Given the description of an element on the screen output the (x, y) to click on. 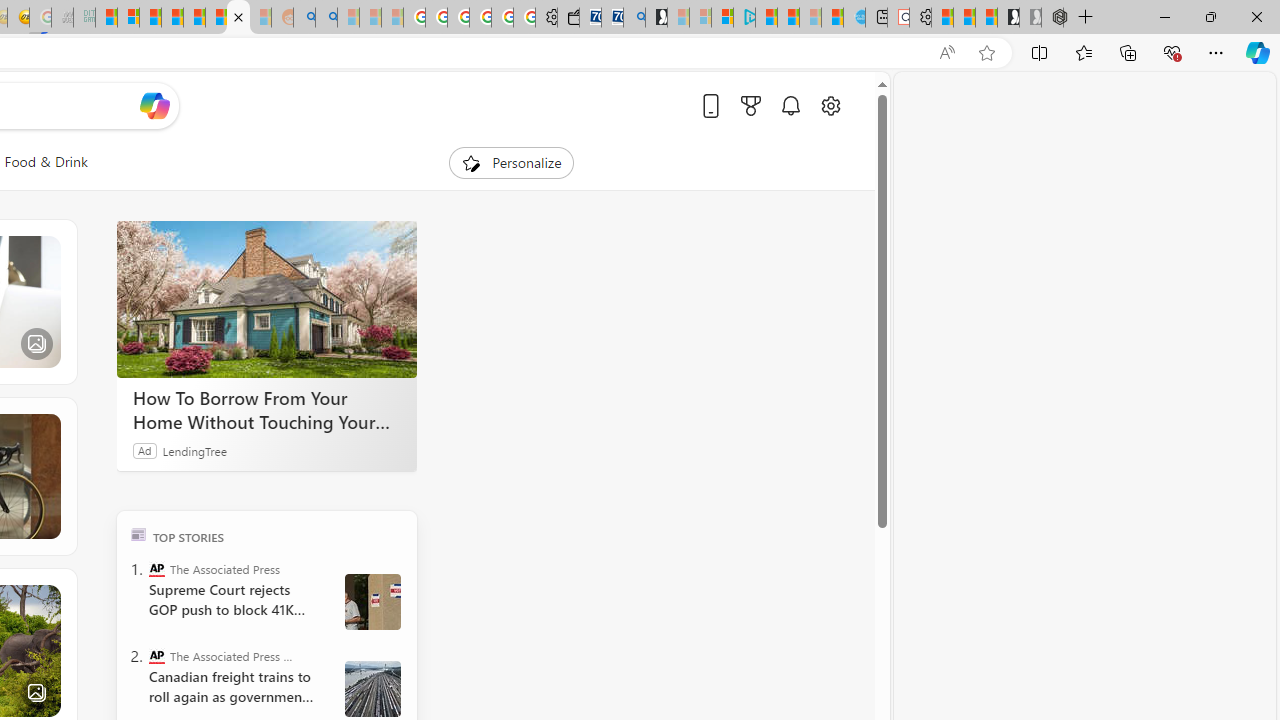
Student Loan Update: Forgiveness Program Ends This Month (172, 17)
Microsoft account | Privacy (722, 17)
Open settings (830, 105)
How To Borrow From Your Home Without Touching Your Mortgage (266, 299)
DITOGAMES AG Imprint - Sleeping (84, 17)
Bing Real Estate - Home sales and rental listings (634, 17)
Microsoft account | Privacy - Sleeping (699, 17)
